Given the description of an element on the screen output the (x, y) to click on. 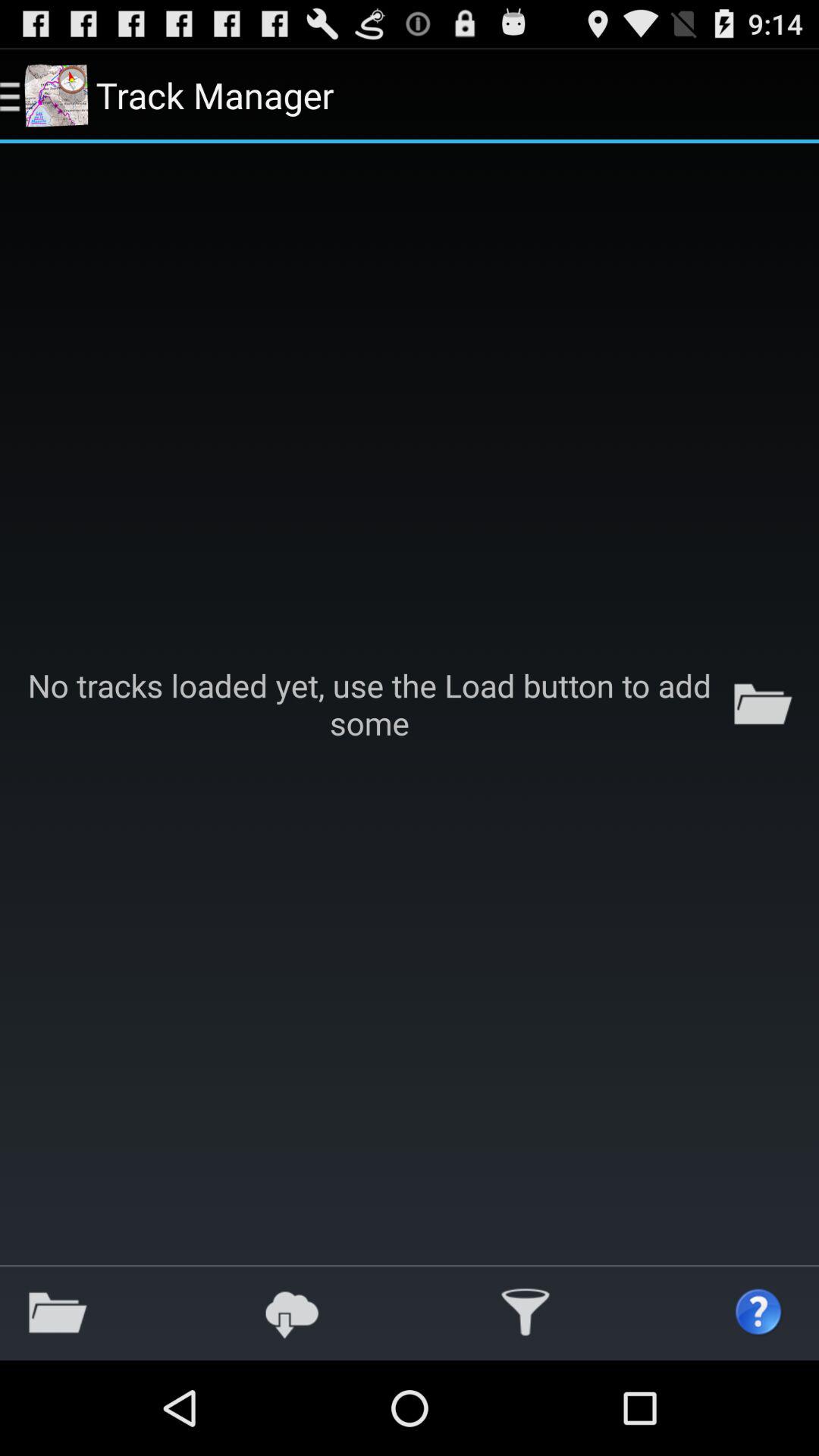
launch the no tracks loaded (409, 703)
